Given the description of an element on the screen output the (x, y) to click on. 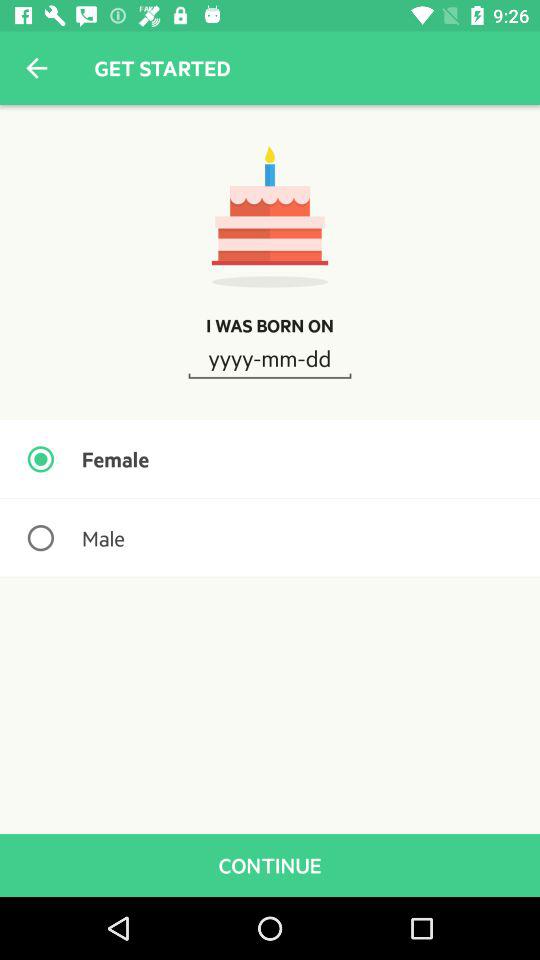
scroll to yyyy-mm-dd item (269, 357)
